Given the description of an element on the screen output the (x, y) to click on. 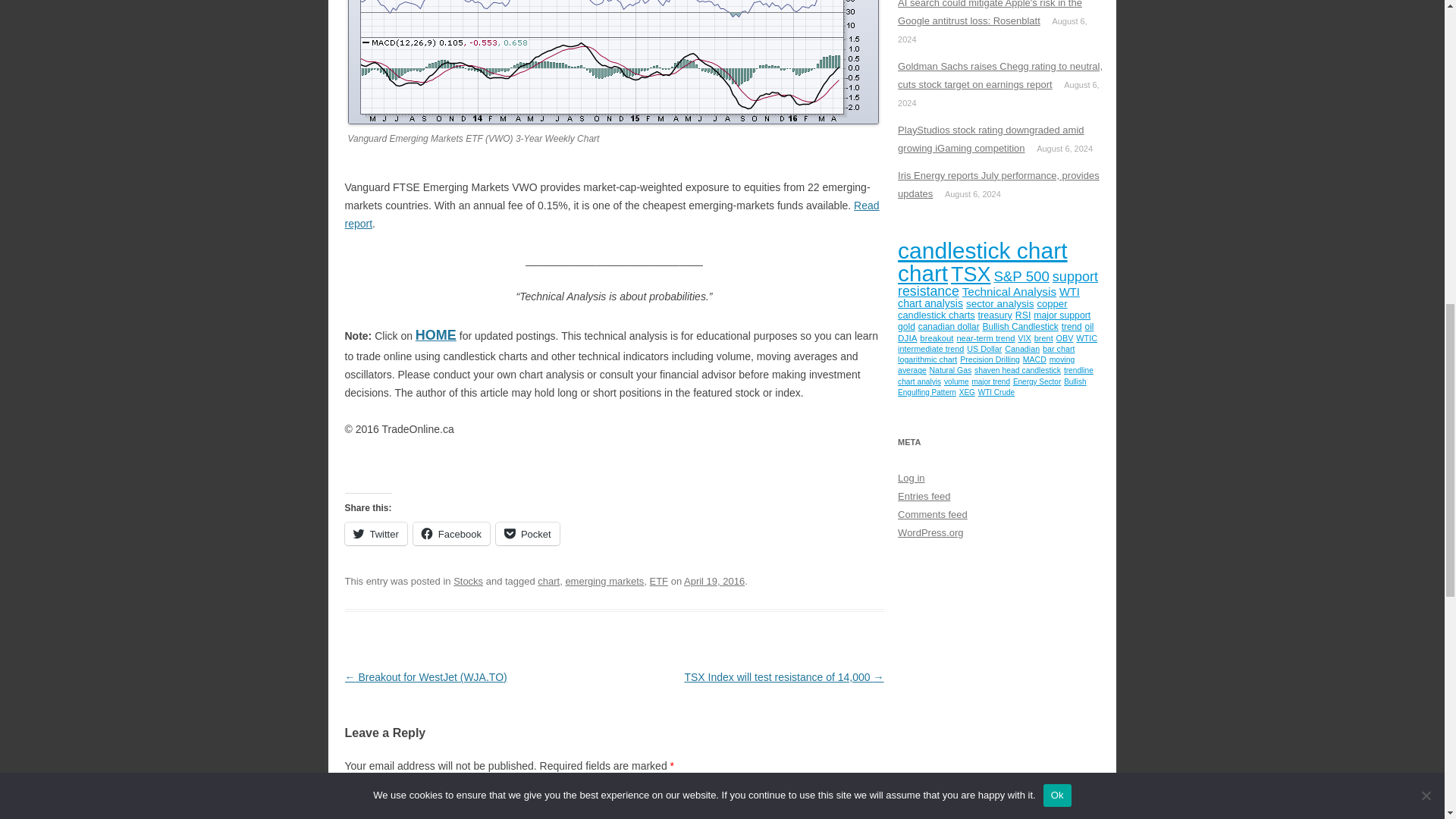
Click to share on Twitter (374, 533)
212 topics (970, 273)
106 topics (1074, 276)
Twitter (374, 533)
243 topics (922, 273)
April 19, 2016 (714, 581)
chart (548, 581)
Click to share on Facebook (451, 533)
102 topics (928, 290)
HOME (435, 336)
8:30 am (714, 581)
emerging markets (603, 581)
114 topics (1020, 276)
Stocks (467, 581)
